Given the description of an element on the screen output the (x, y) to click on. 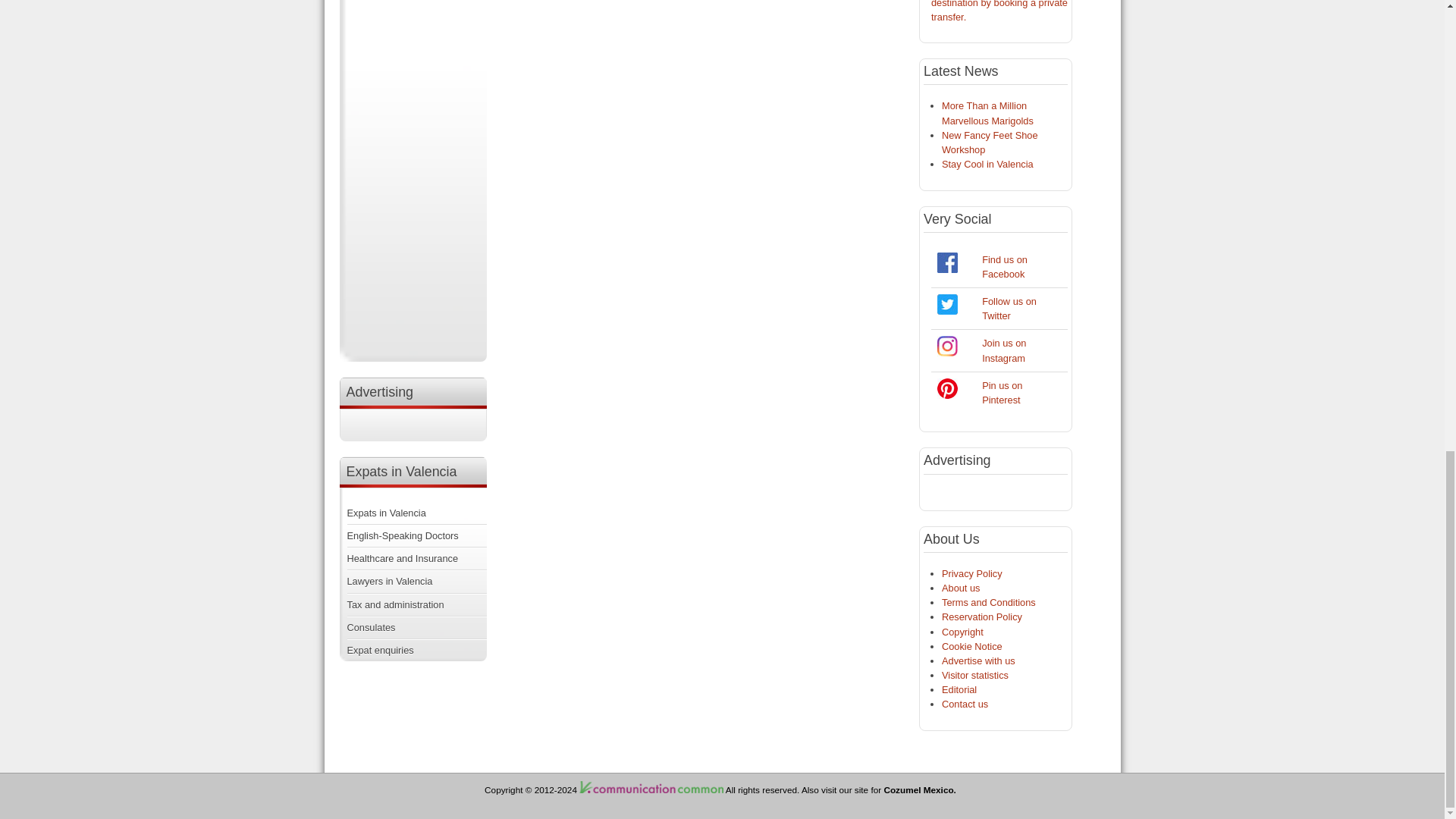
Join us on Instagram (1003, 350)
Join us on Instagram (947, 345)
Valencia airport transfers (999, 11)
Find us on Facebook (947, 262)
Join us on Instagram (947, 352)
Follow us on Twitter (1008, 308)
Find us on Facebook (1004, 266)
Follow us on Twitter (947, 310)
Follow us on Twitter (947, 304)
